Given the description of an element on the screen output the (x, y) to click on. 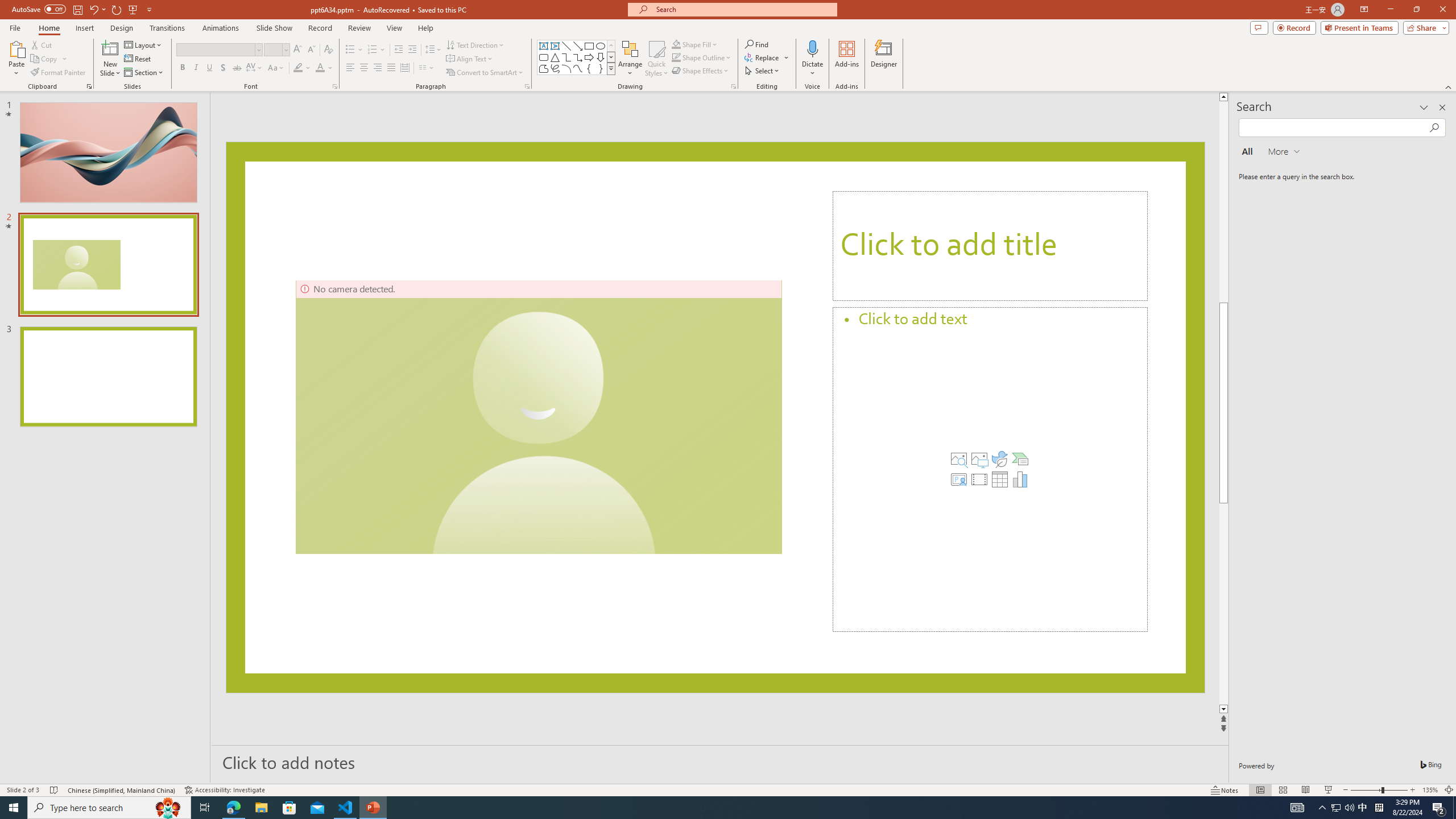
Curve (577, 68)
Animations (220, 28)
Minimize (1390, 9)
Insert (83, 28)
Oval (600, 45)
Office Clipboard... (88, 85)
Paste (16, 58)
Underline (209, 67)
Redo (117, 9)
Format Object... (733, 85)
Ribbon Display Options (1364, 9)
Restore Down (1416, 9)
